Given the description of an element on the screen output the (x, y) to click on. 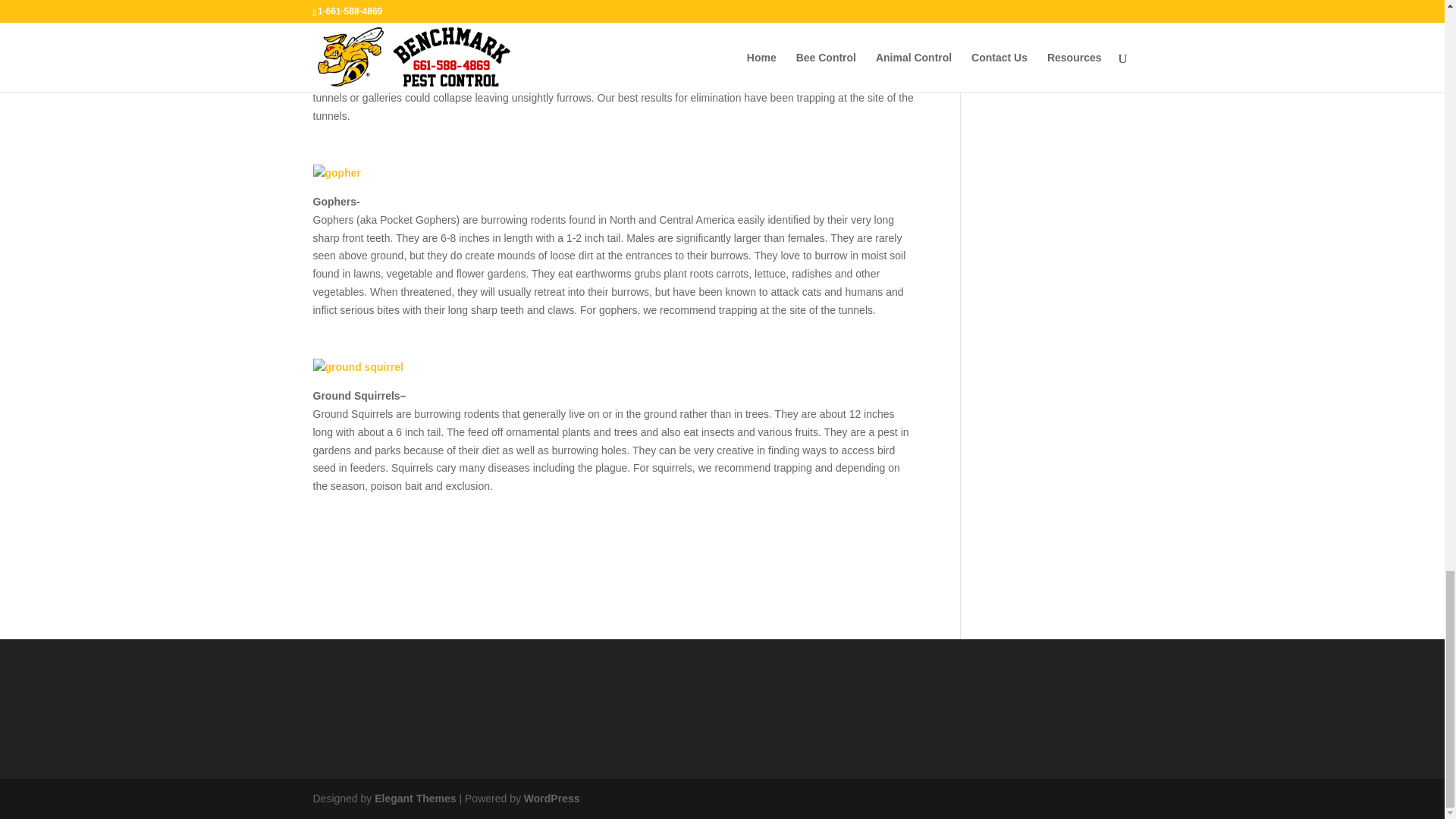
Premium WordPress Themes (414, 798)
Elegant Themes (414, 798)
WordPress (551, 798)
Rodents in Bakersfield (331, 3)
Rodents in Bakersfield (336, 173)
Rodents in Bakersfield (358, 367)
pests to homeowners (546, 79)
